Given the description of an element on the screen output the (x, y) to click on. 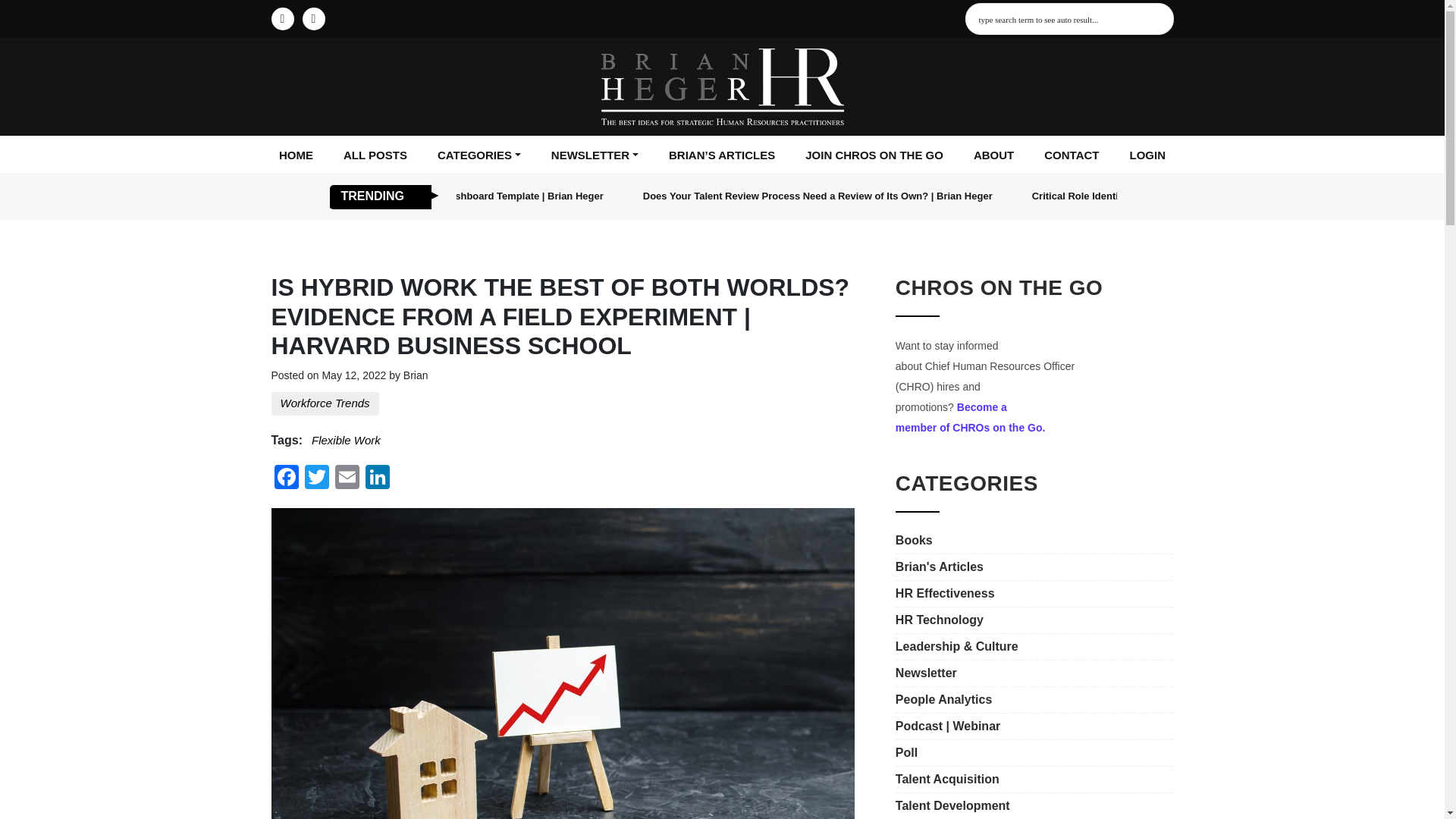
ALL POSTS (375, 156)
CATEGORIES (479, 156)
CONTACT (1071, 156)
ALL POSTS (375, 156)
HOME (296, 156)
Home (296, 156)
ABOUT (993, 156)
NEWSLETTER (595, 156)
CATEGORIES (479, 156)
BrianHeger.com (721, 86)
